Given the description of an element on the screen output the (x, y) to click on. 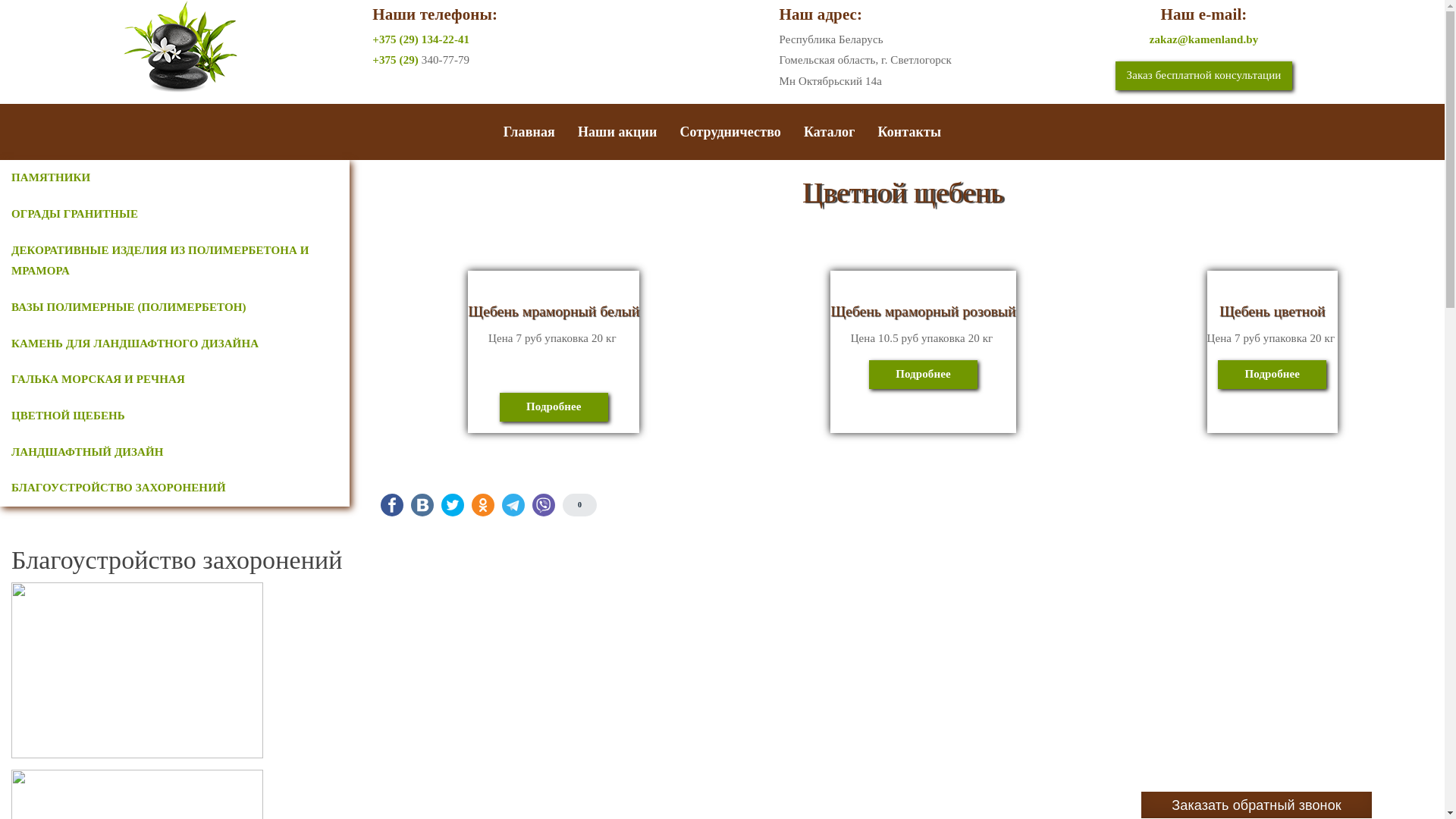
Twitter Element type: hover (452, 504)
FaceBook Element type: hover (391, 504)
+375 (29)  Element type: text (396, 59)
Telegram Element type: hover (513, 504)
zakaz@kamenland.by Element type: text (1203, 39)
0 Element type: text (579, 504)
+375 (29) 134-22-41 Element type: text (420, 39)
Viber Element type: hover (543, 504)
